Given the description of an element on the screen output the (x, y) to click on. 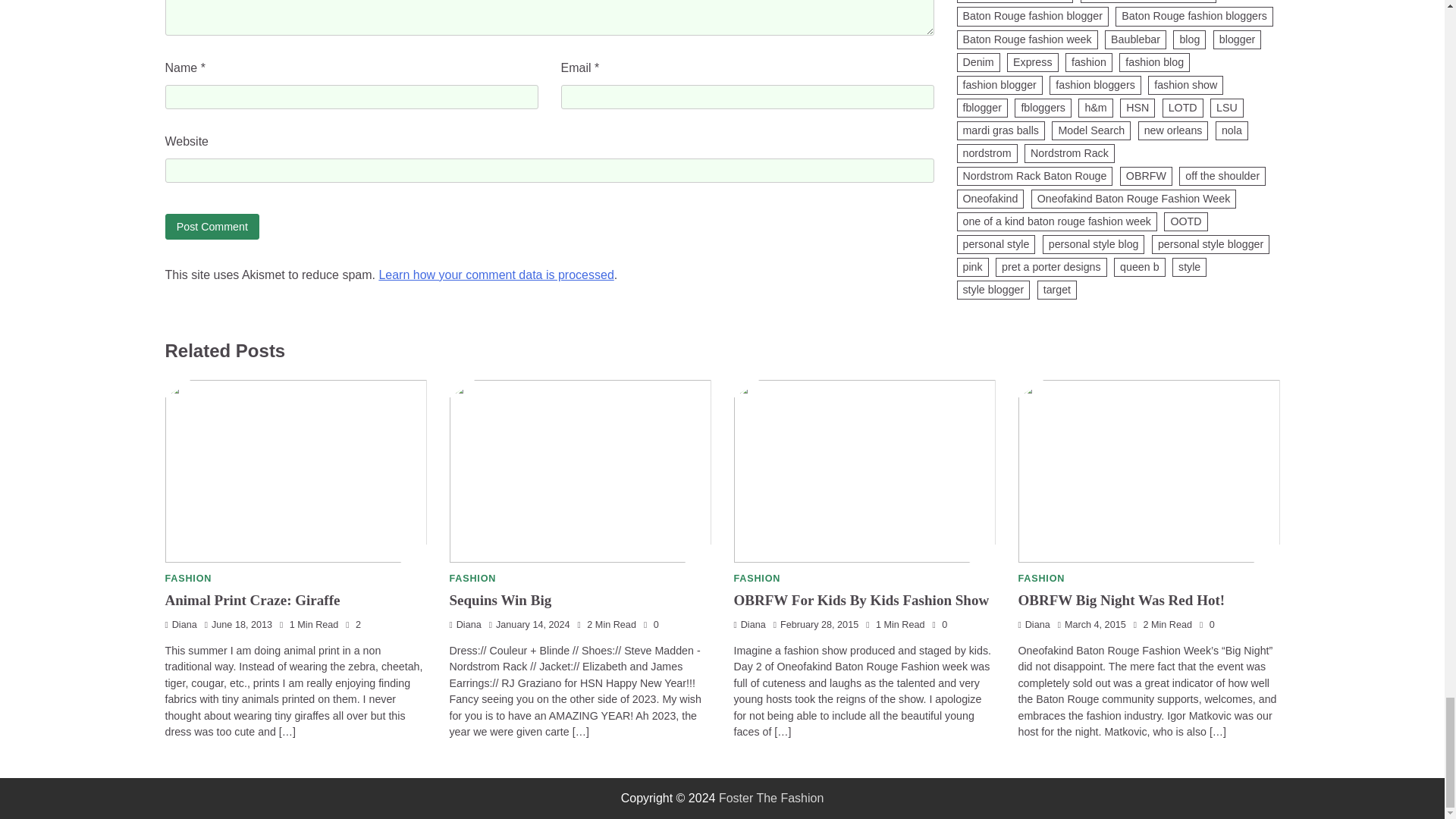
Post Comment (212, 226)
Post Comment (212, 226)
Learn how your comment data is processed (495, 274)
